Given the description of an element on the screen output the (x, y) to click on. 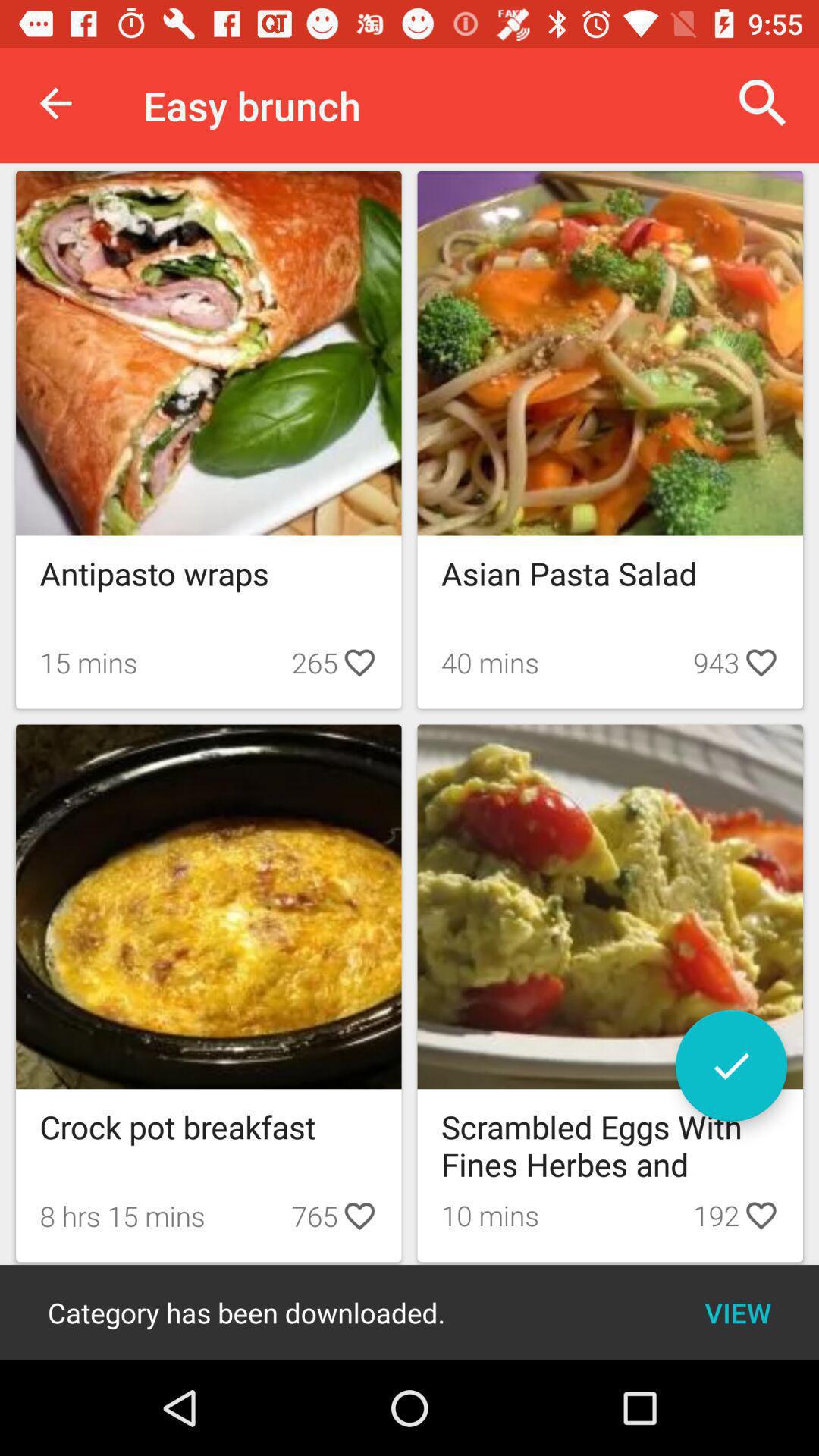
go to select option (731, 1065)
